Given the description of an element on the screen output the (x, y) to click on. 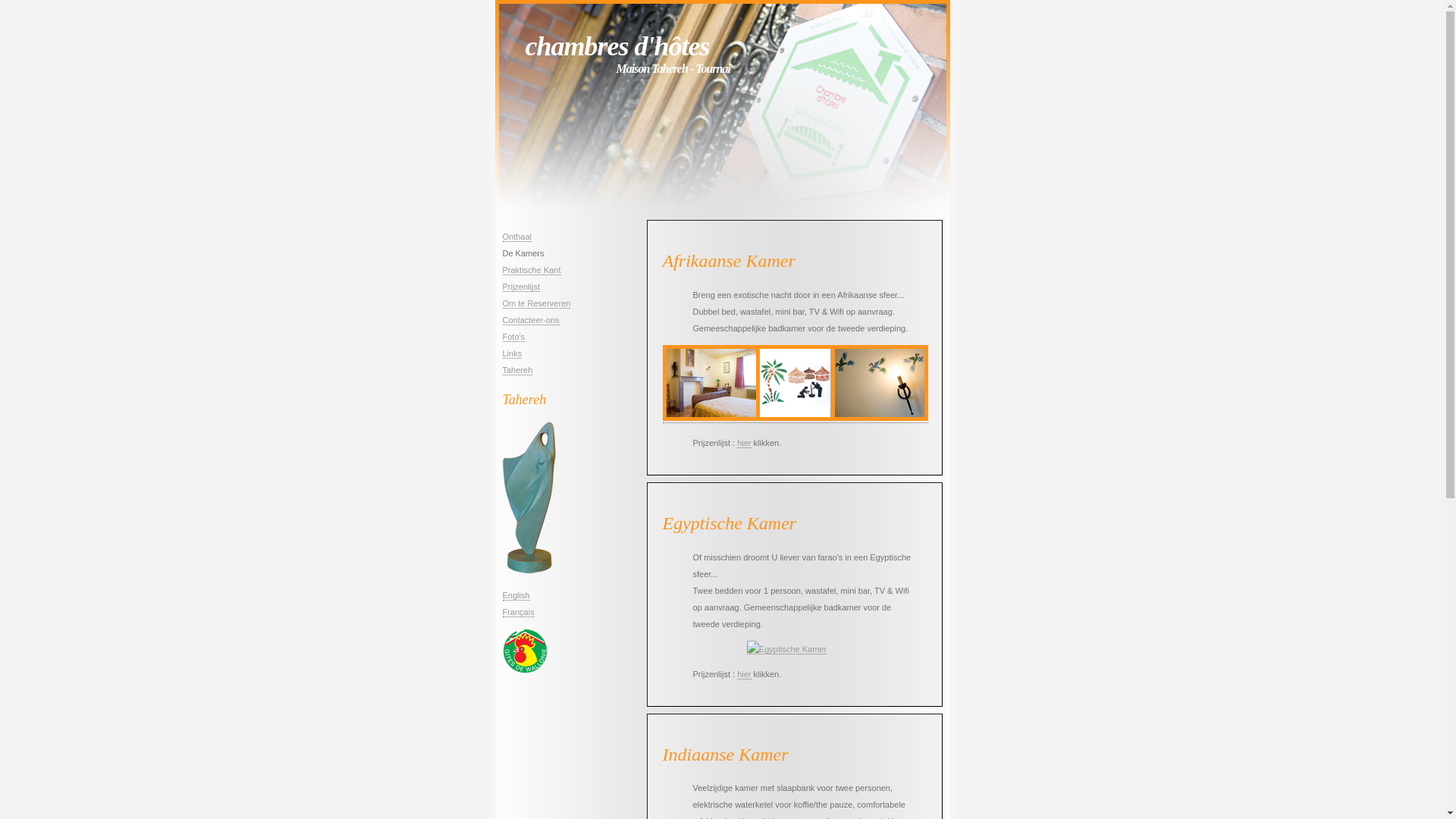
English Element type: text (515, 595)
Om te Reserveren Element type: text (536, 303)
Foto's Element type: text (513, 337)
Links Element type: text (511, 353)
Contacteer-ons Element type: text (530, 320)
Praktische Kant Element type: text (531, 270)
hier Element type: text (743, 443)
hier Element type: text (743, 674)
Onthaal Element type: text (516, 236)
Tahereh Element type: text (517, 370)
Prijzenlijst Element type: text (520, 286)
Maison Tahereh - Tournai Element type: text (672, 68)
Egyptische Kamer Element type: hover (786, 649)
Afrikaanse Kamer Element type: hover (795, 418)
